Given the description of an element on the screen output the (x, y) to click on. 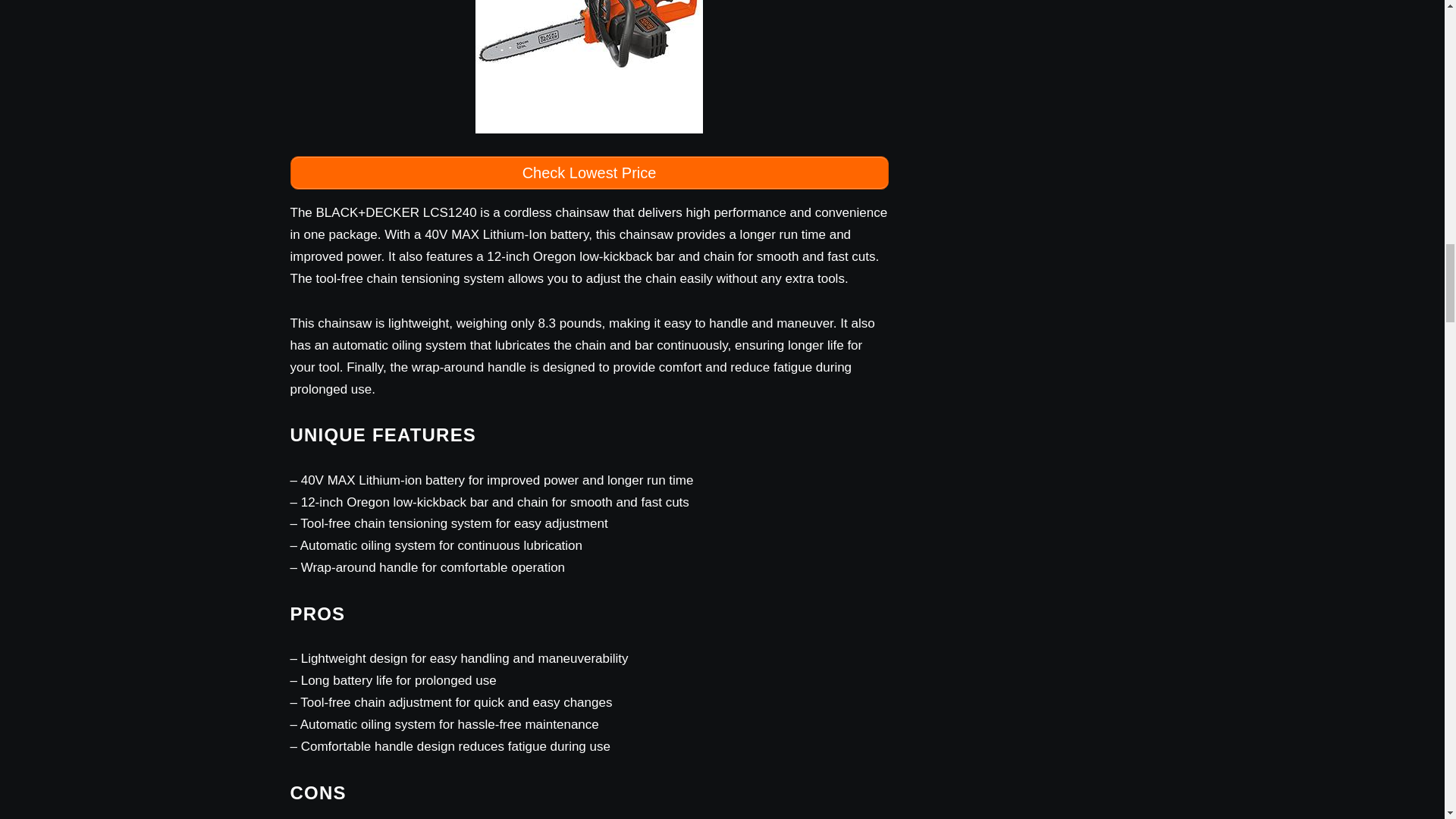
Check Lowest Price (588, 172)
